Given the description of an element on the screen output the (x, y) to click on. 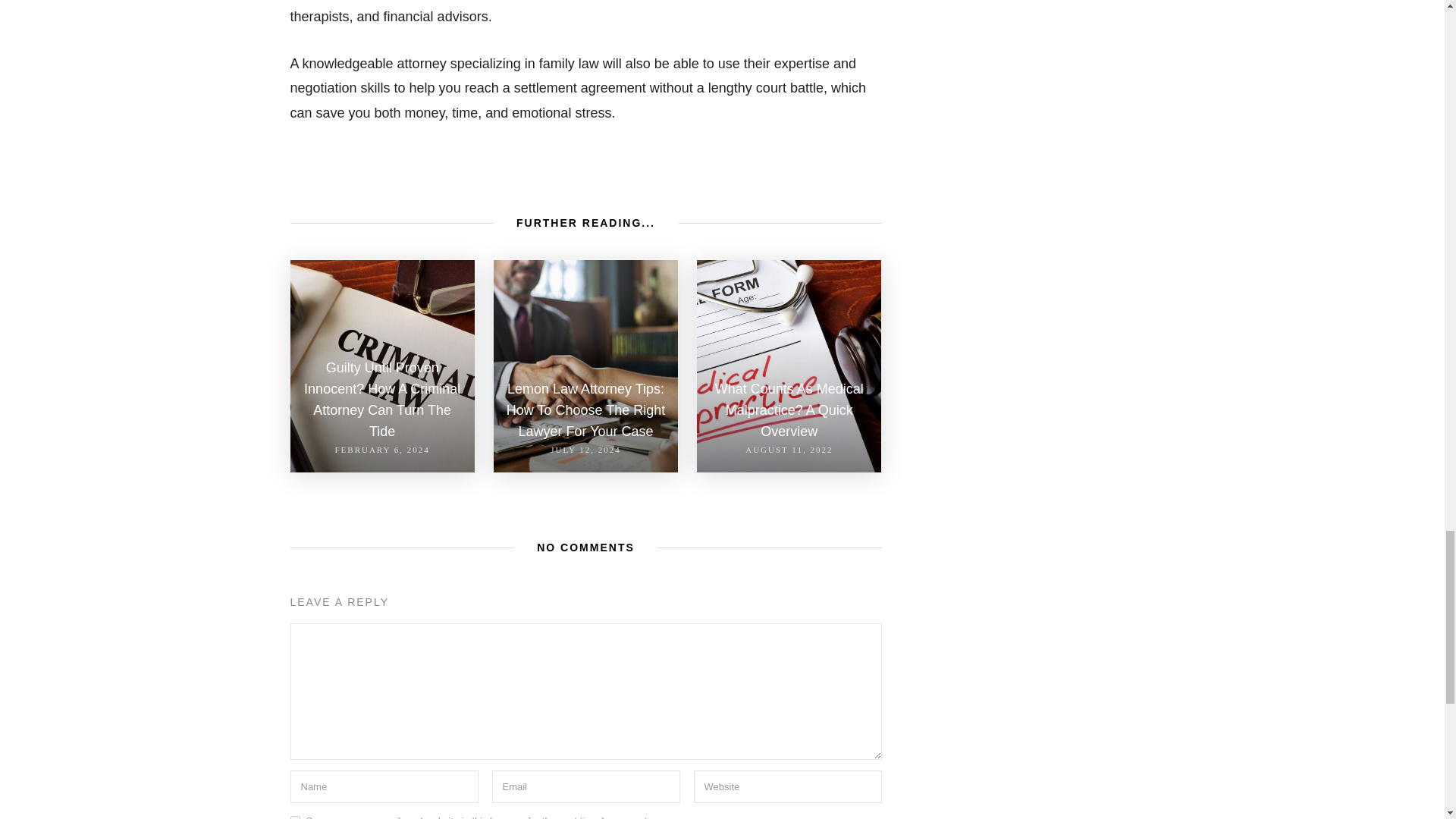
yes (294, 817)
